Given the description of an element on the screen output the (x, y) to click on. 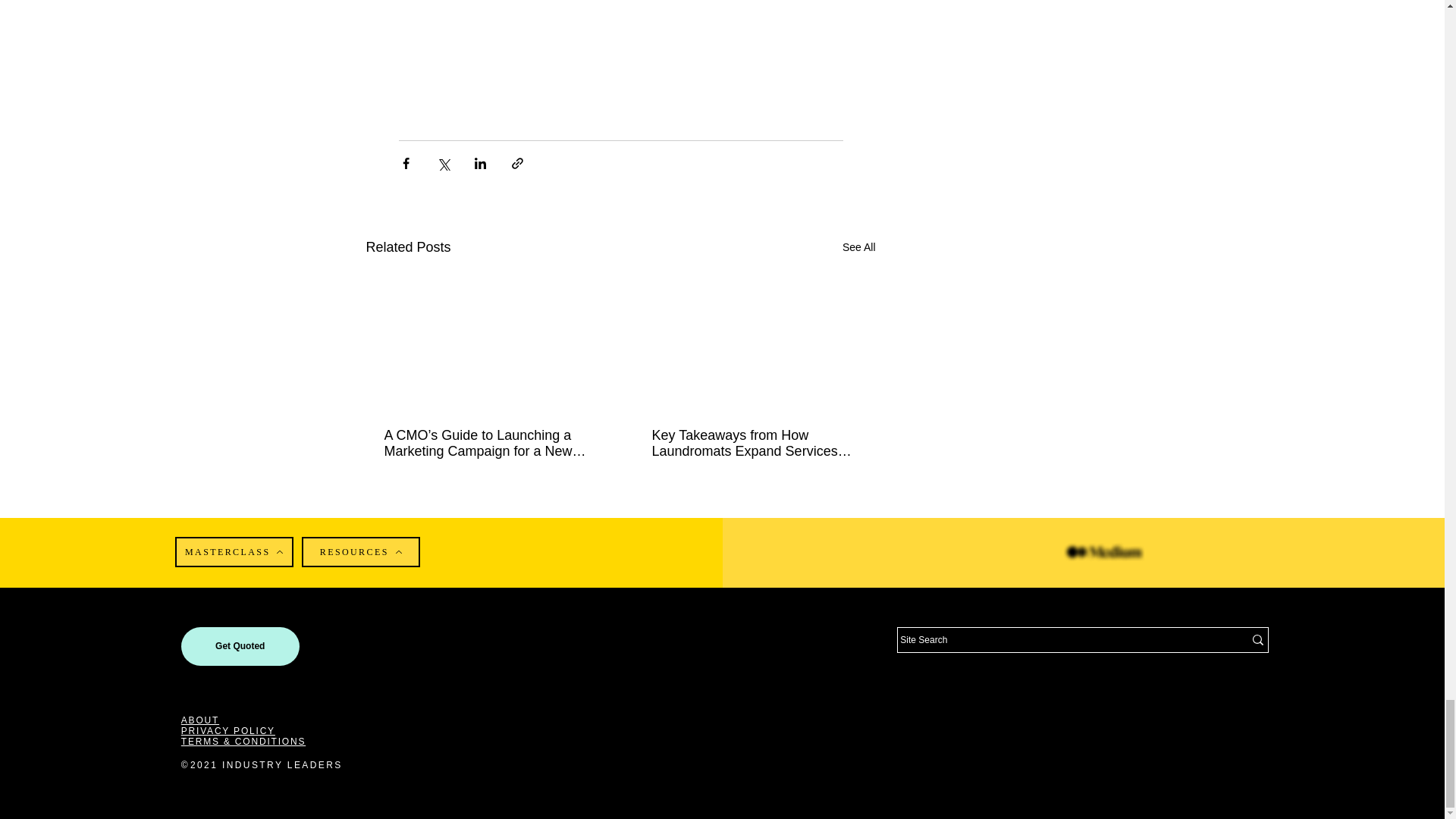
Get Quoted (239, 646)
MASTERCLASS (234, 552)
ABOUT (199, 719)
RESOURCES (360, 552)
See All (859, 247)
PRIVACY POLICY (227, 730)
